Given the description of an element on the screen output the (x, y) to click on. 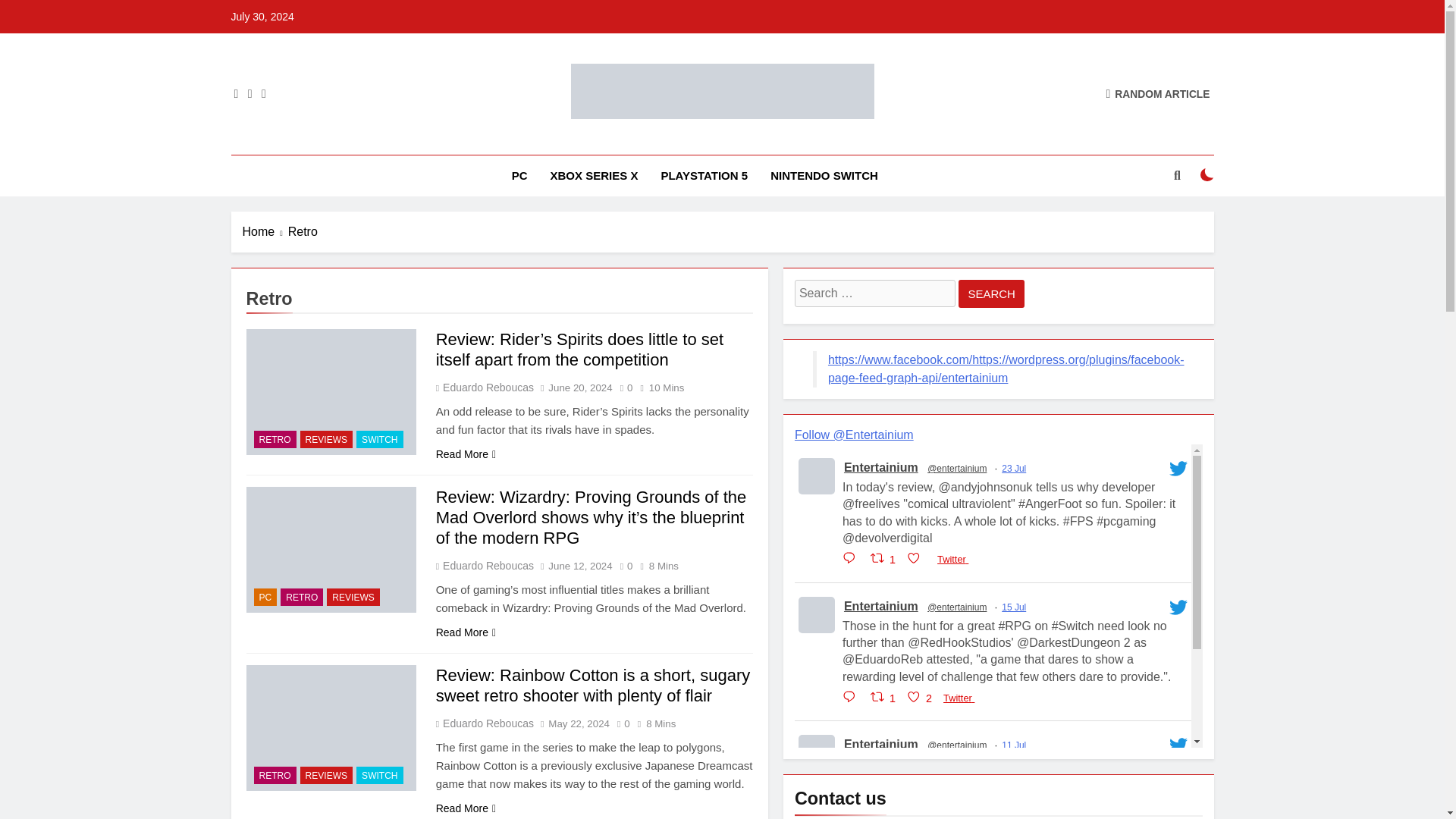
NINTENDO SWITCH (823, 175)
RETRO (274, 438)
Eduardo Reboucas (486, 387)
XBOX SERIES X (593, 175)
PLAYSTATION 5 (703, 175)
Entertainium (579, 140)
RETRO (302, 597)
0 (622, 386)
SWITCH (379, 438)
REVIEWS (326, 438)
Read More (465, 632)
0 (622, 564)
REVIEWS (353, 597)
June 20, 2024 (579, 387)
